Given the description of an element on the screen output the (x, y) to click on. 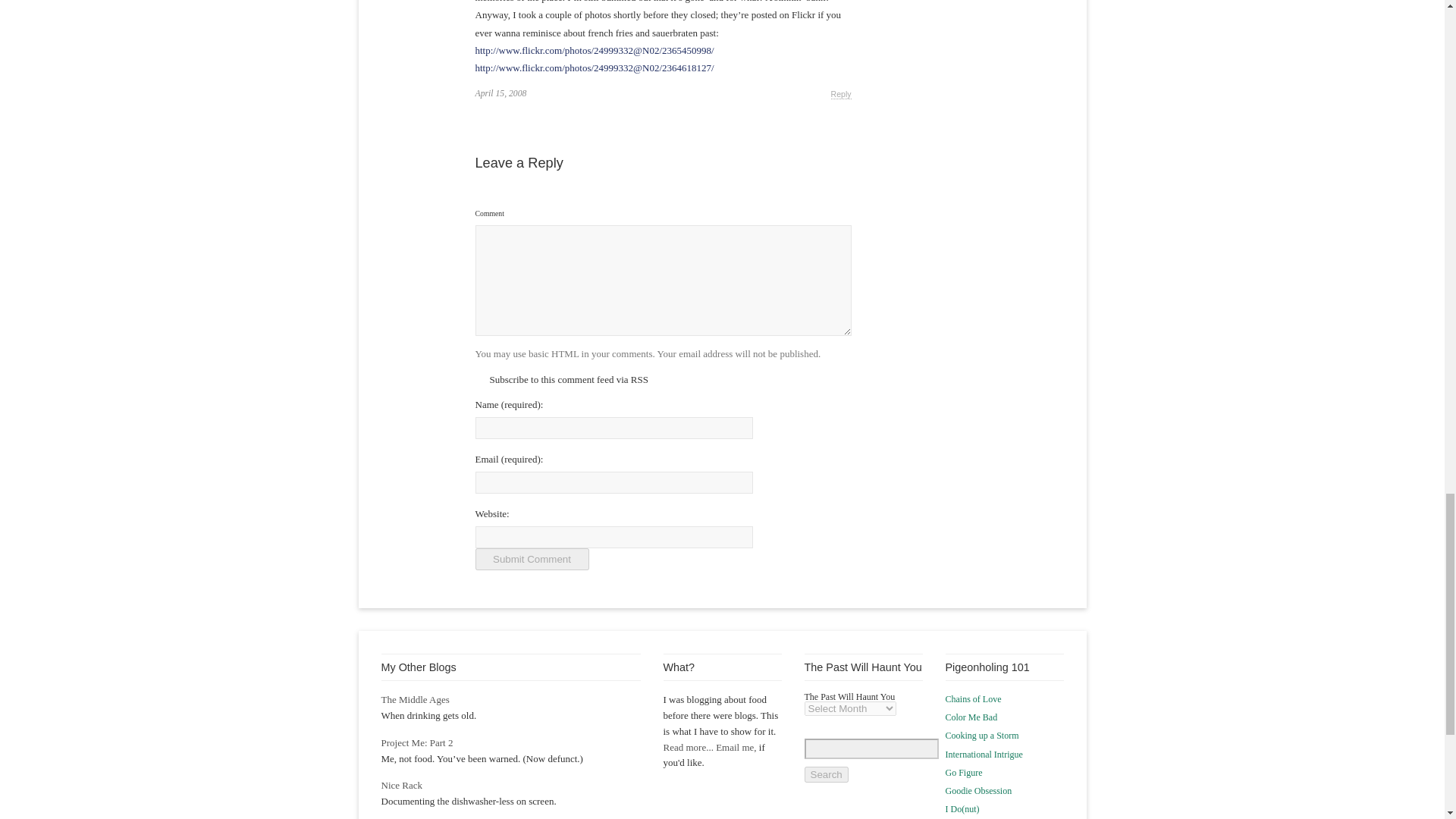
Submit Comment (531, 558)
Search (825, 774)
